Given the description of an element on the screen output the (x, y) to click on. 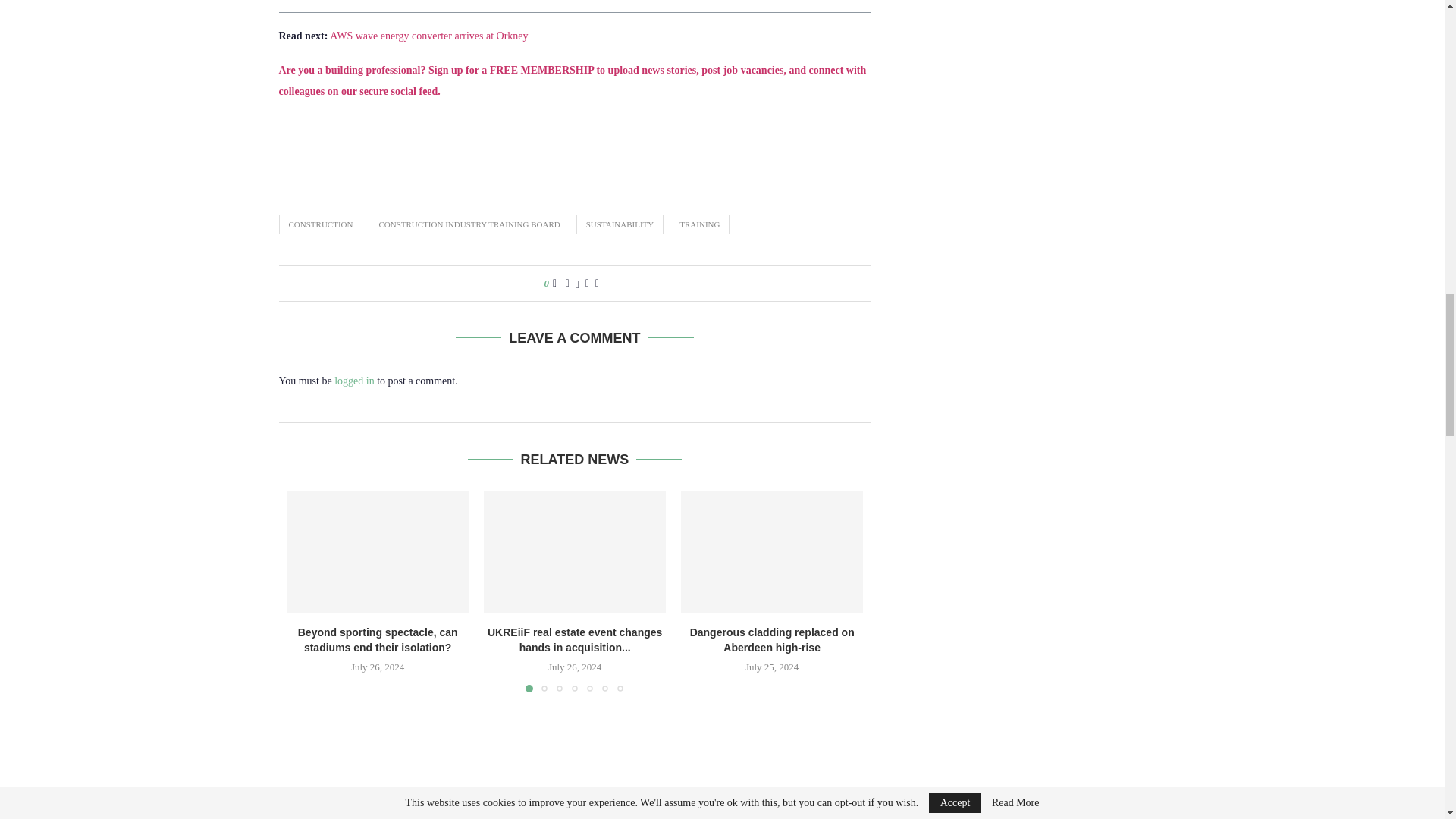
UKREiiF real estate event changes hands in acquisition deal (574, 551)
Beyond sporting spectacle, can stadiums end their isolation? (377, 551)
Dangerous cladding replaced on Aberdeen high-rise (772, 551)
